Given the description of an element on the screen output the (x, y) to click on. 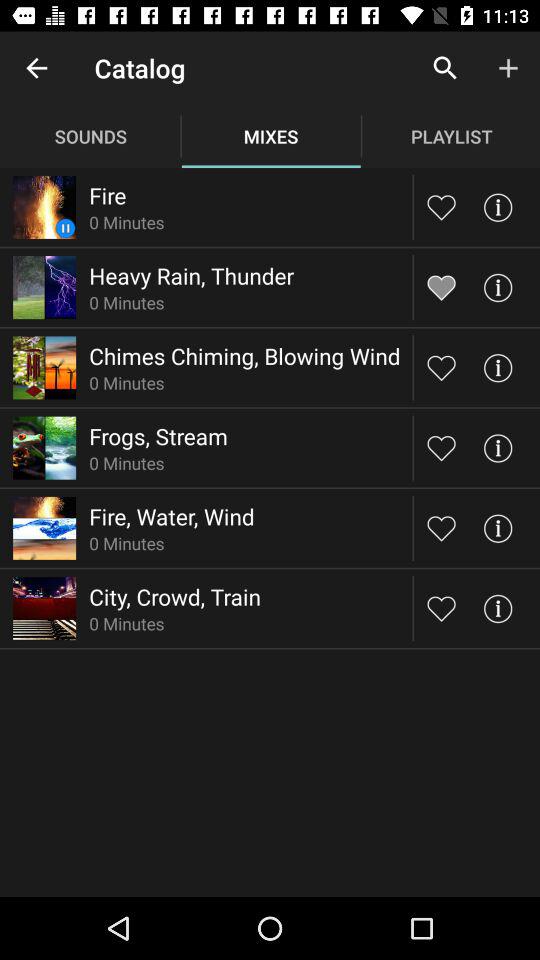
favorite the article (441, 527)
